Given the description of an element on the screen output the (x, y) to click on. 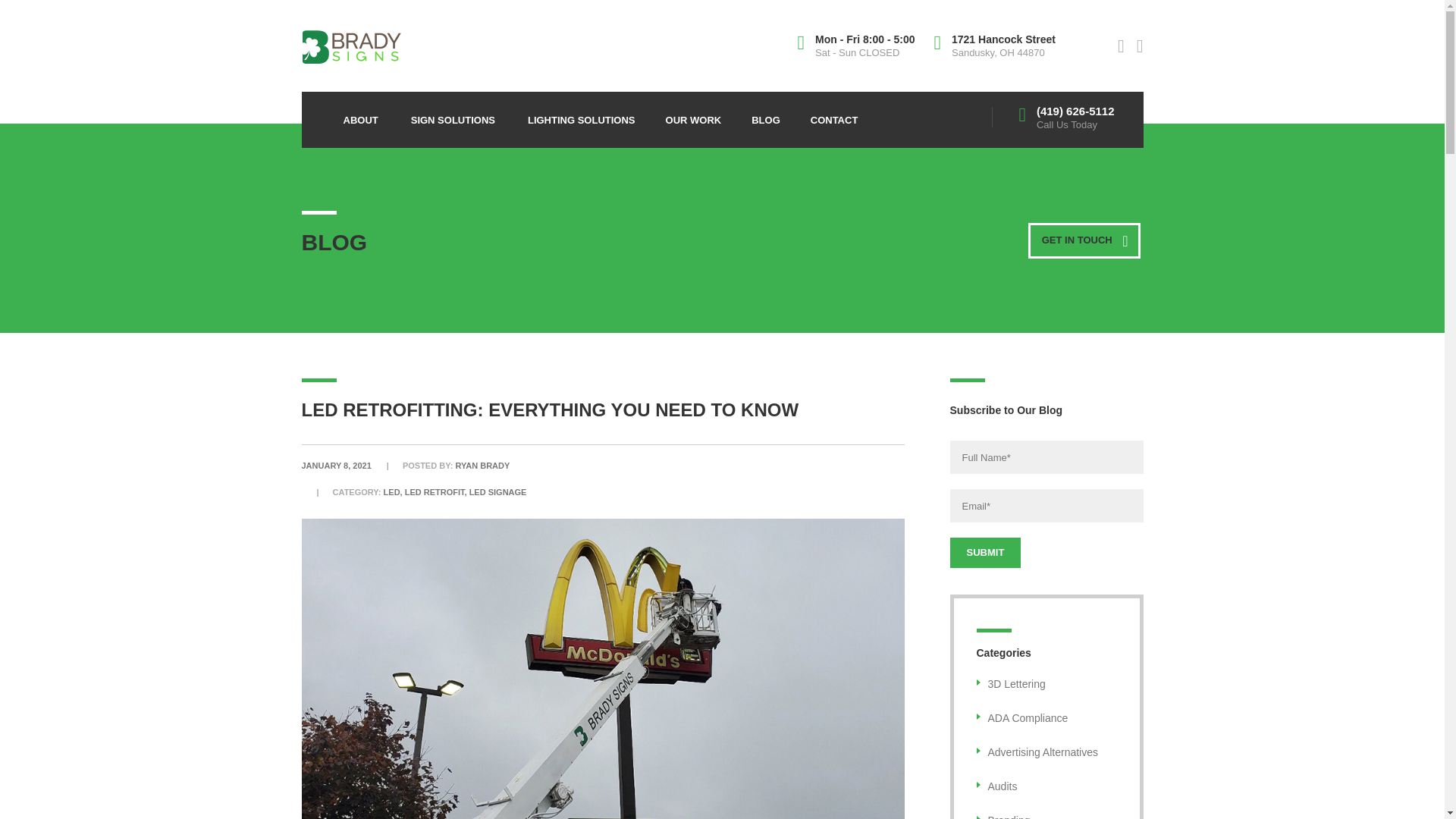
LIGHTING SOLUTIONS (581, 115)
SIGN SOLUTIONS (454, 115)
CONTACT (833, 115)
GET IN TOUCH (1083, 240)
OUR WORK (693, 115)
BLOG (765, 115)
ABOUT (360, 115)
